Given the description of an element on the screen output the (x, y) to click on. 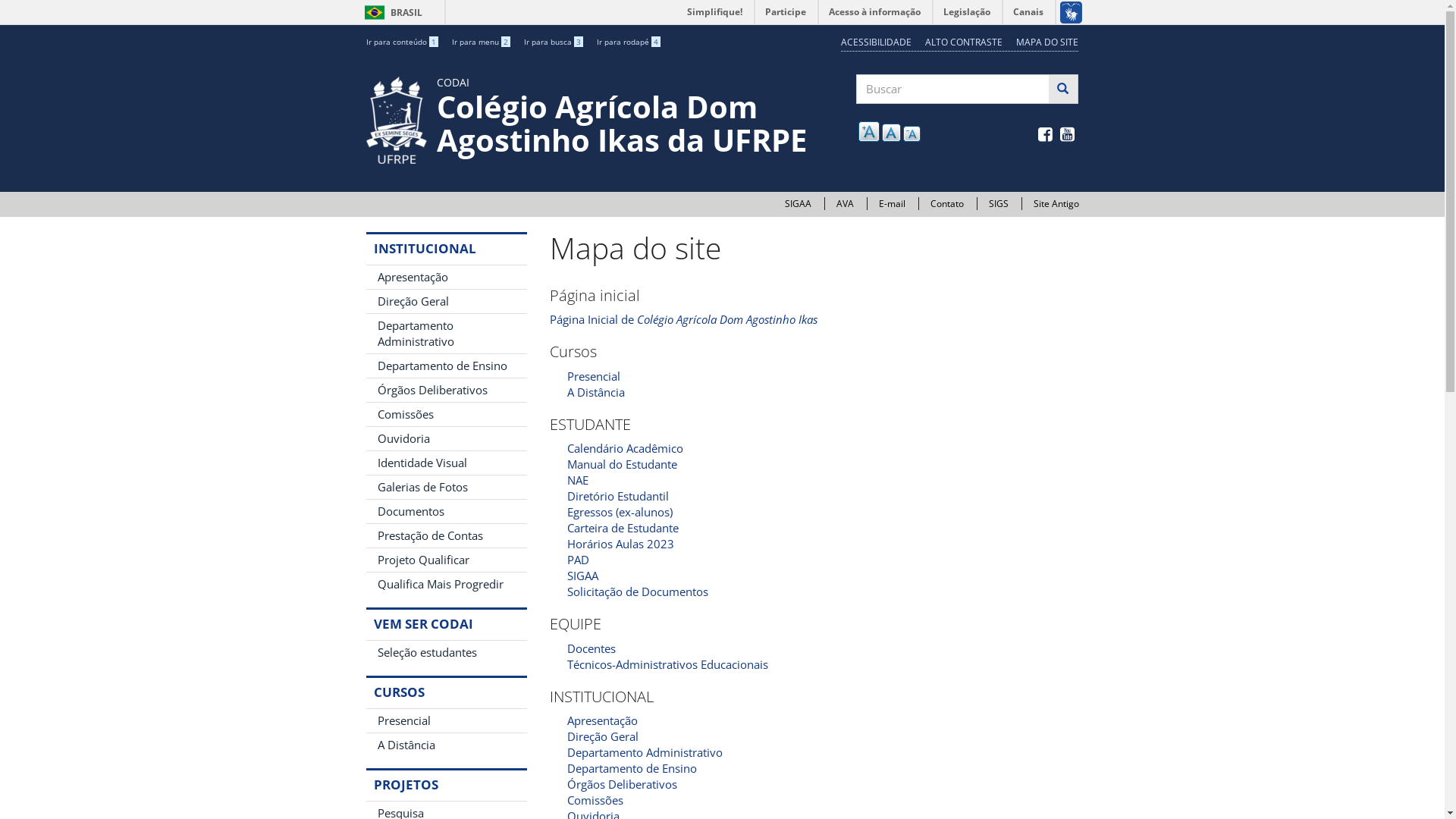
  Element type: text (1068, 135)
Galerias de Fotos Element type: text (446, 486)
SIGAA Element type: text (797, 203)
PAD Element type: text (578, 559)
Qualifica Mais Progredir Element type: text (446, 584)
A Element type: text (911, 133)
Presencial Element type: text (593, 375)
Carteira de Estudante Element type: text (622, 527)
Identidade Visual Element type: text (446, 462)
Departamento Administrativo Element type: text (446, 333)
Departamento Administrativo Element type: text (644, 751)
Contato Element type: text (946, 203)
Presencial Element type: text (446, 720)
NAE Element type: text (577, 479)
A Element type: text (890, 132)
SIGS Element type: text (998, 203)
Departamento de Ensino Element type: text (446, 365)
A Element type: text (868, 131)
  Element type: text (550, 223)
Egressos (ex-alunos) Element type: text (619, 511)
Site Antigo Element type: text (1055, 203)
AVA Element type: text (844, 203)
E-mail Element type: text (891, 203)
Documentos Element type: text (446, 511)
Ir para busca 3 Element type: text (552, 41)
Ir para menu 2 Element type: text (480, 41)
SIGAA Element type: text (582, 575)
BRASIL Element type: text (373, 12)
Ouvidoria Element type: text (446, 438)
ALTO CONTRASTE Element type: text (963, 41)
Projeto Qualificar Element type: text (446, 559)
Manual do Estudante Element type: text (622, 463)
Docentes Element type: text (591, 647)
MAPA DO SITE Element type: text (1047, 41)
Buscar Element type: text (856, 118)
Departamento de Ensino Element type: text (631, 767)
ACESSIBILIDADE Element type: text (875, 41)
  Element type: text (1046, 135)
